Given the description of an element on the screen output the (x, y) to click on. 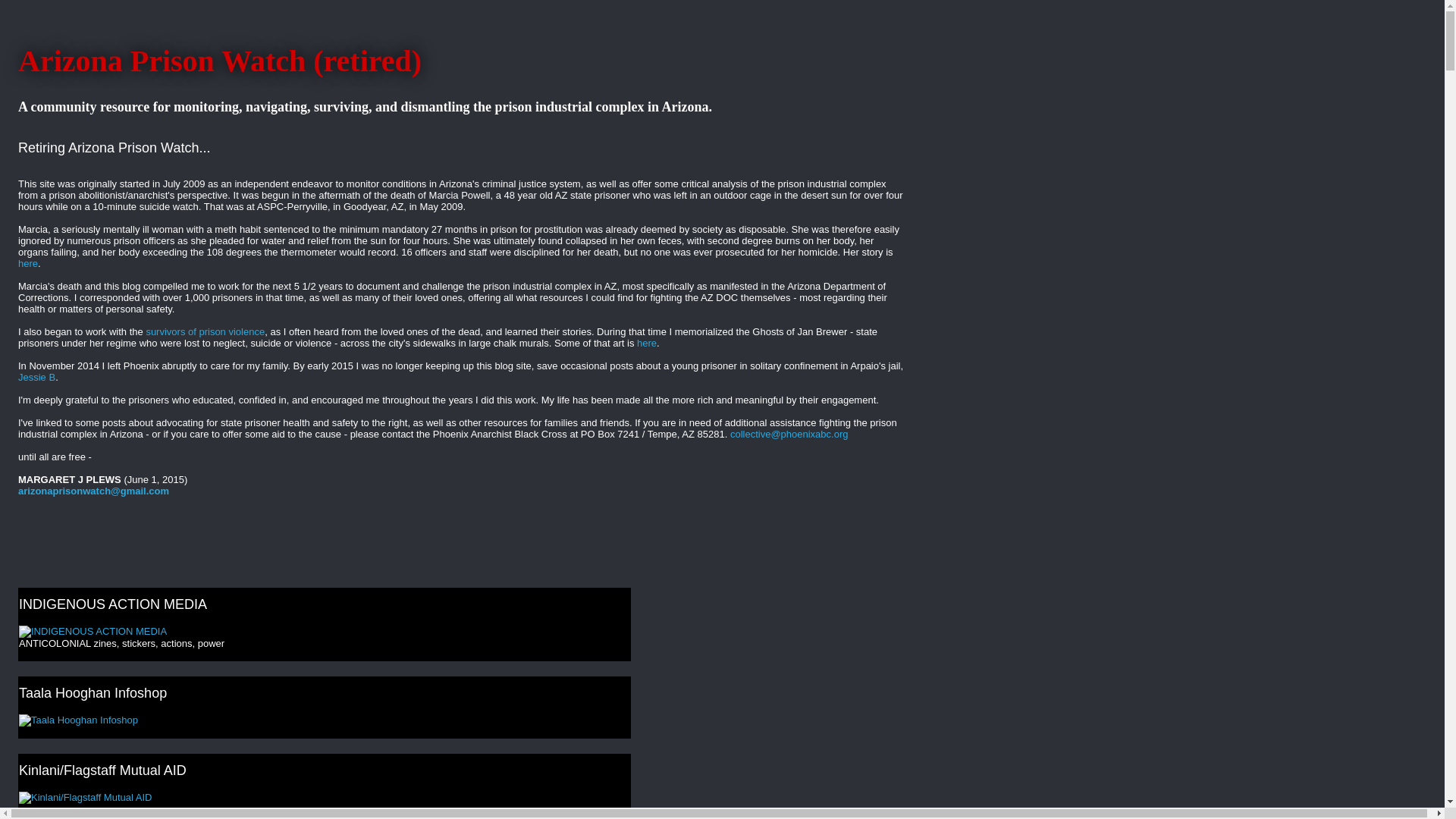
survivors of prison violence (204, 331)
here (646, 342)
here (27, 263)
Jessie B (36, 377)
